Given the description of an element on the screen output the (x, y) to click on. 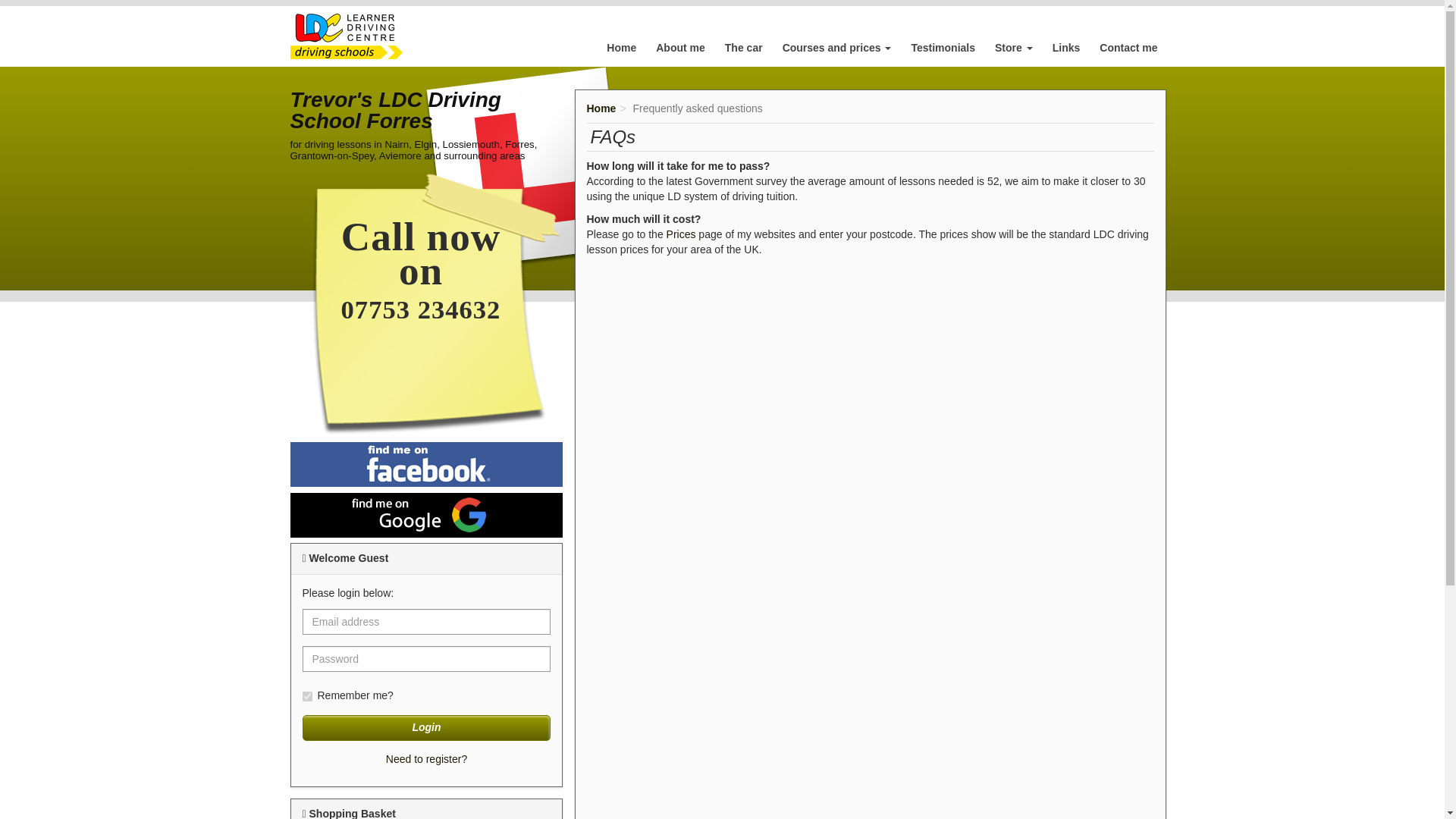
Login (425, 727)
1 (306, 696)
